Given the description of an element on the screen output the (x, y) to click on. 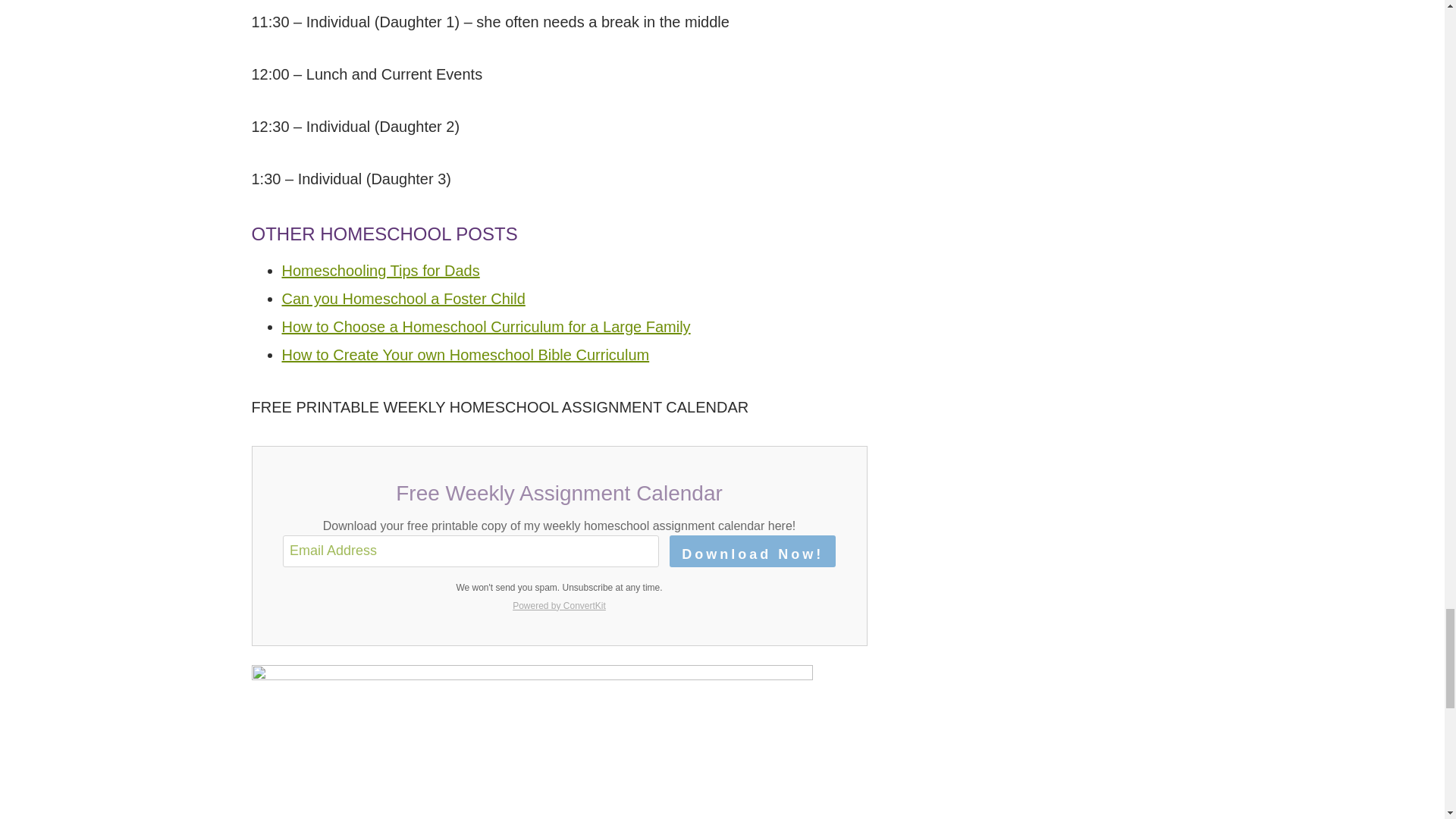
Download Now! (752, 551)
Homeschooling Tips for Dads (381, 270)
Can you Homeschool a Foster Child (403, 298)
Powered by ConvertKit (558, 606)
How to Create Your own Homeschool Bible Curriculum (465, 354)
How to Choose a Homeschool Curriculum for a Large Family (486, 326)
